Given the description of an element on the screen output the (x, y) to click on. 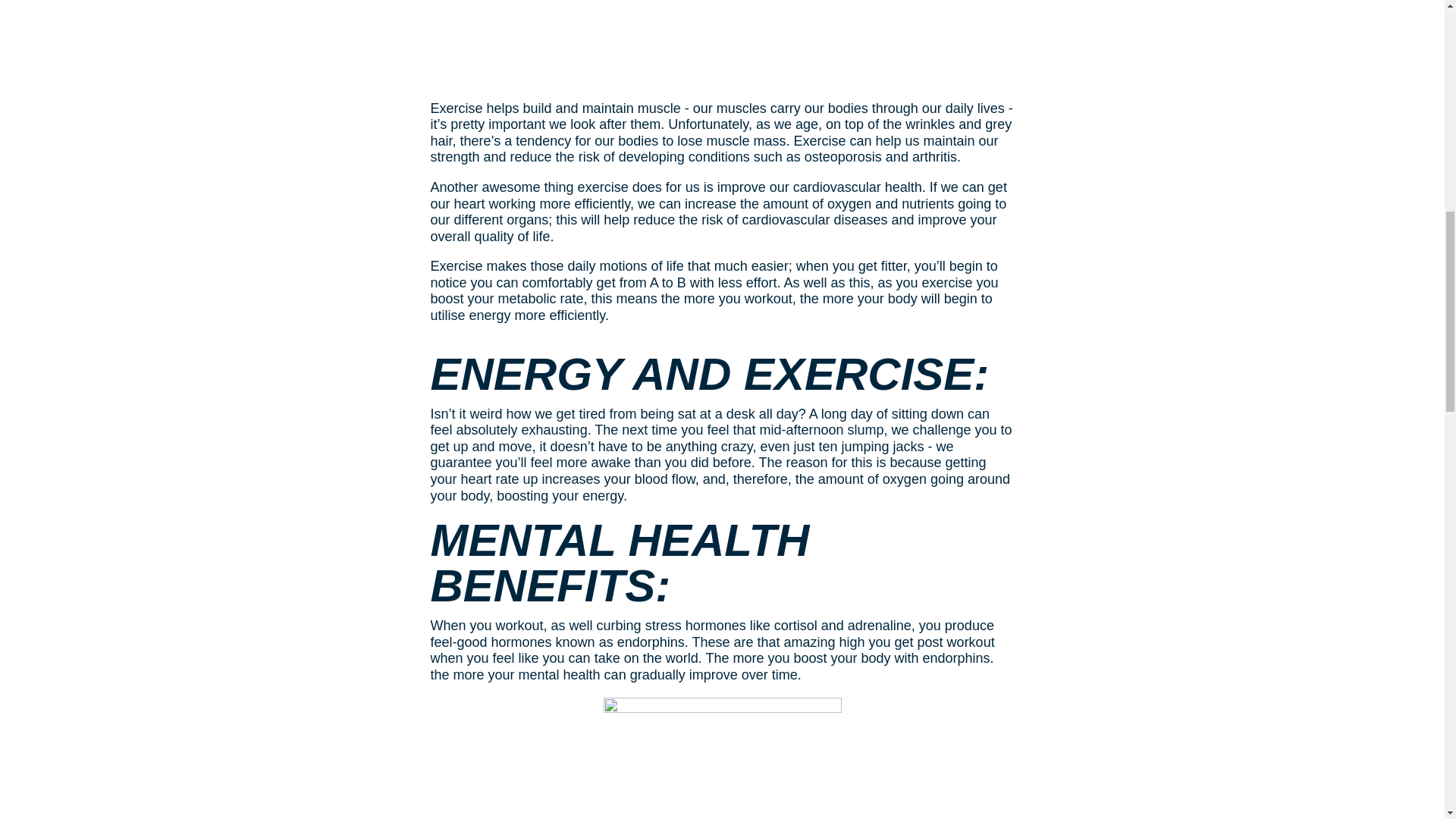
build and maintain muscle (603, 108)
cortisol and adrenaline, (844, 625)
endorphins (650, 642)
